Given the description of an element on the screen output the (x, y) to click on. 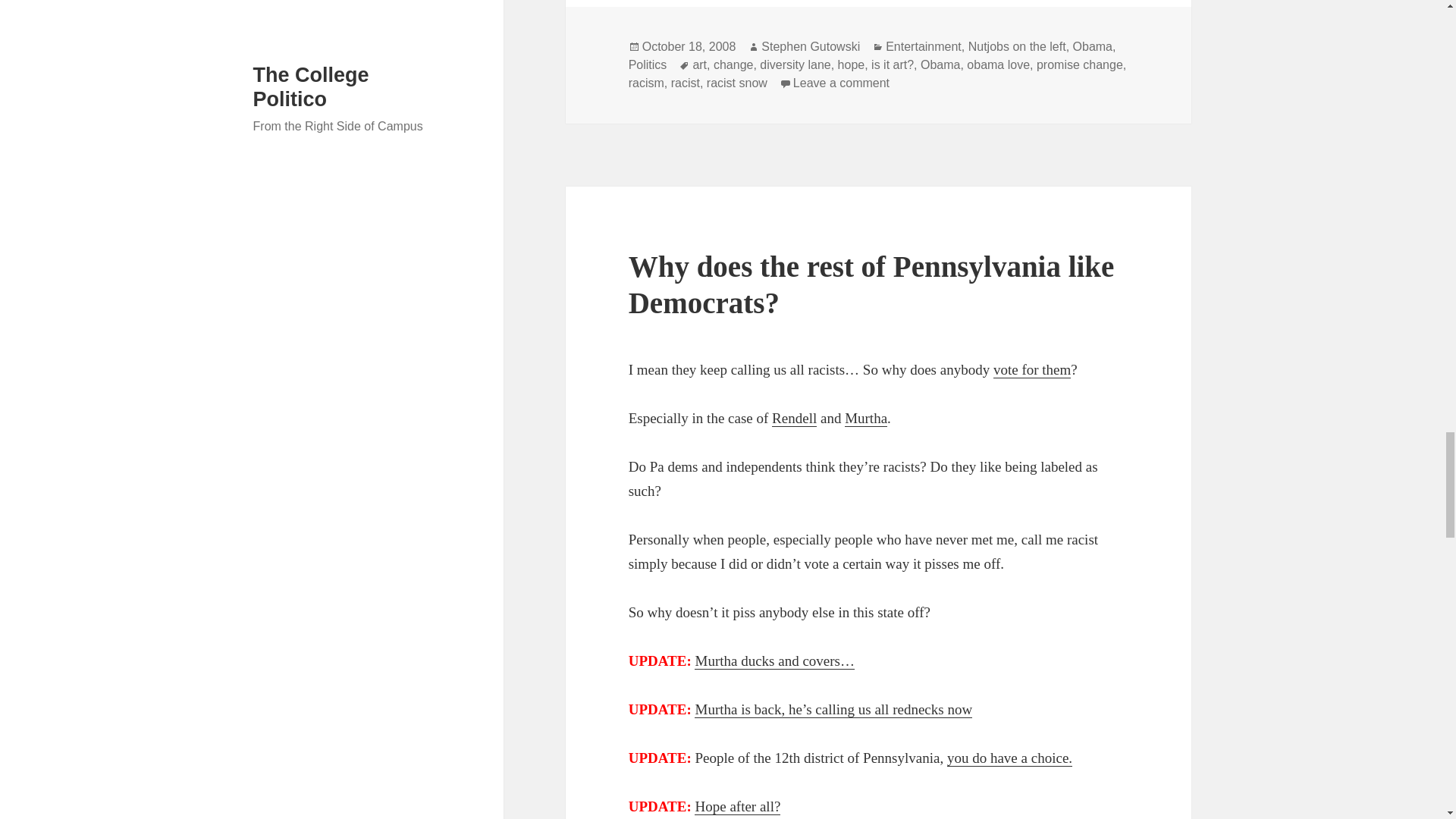
Over and over and over and over again (1031, 369)
October 18, 2008 (689, 47)
Our Governor thinks we are racists (793, 418)
Thinks his own constituents are racists (865, 418)
Pathetic (774, 660)
